Given the description of an element on the screen output the (x, y) to click on. 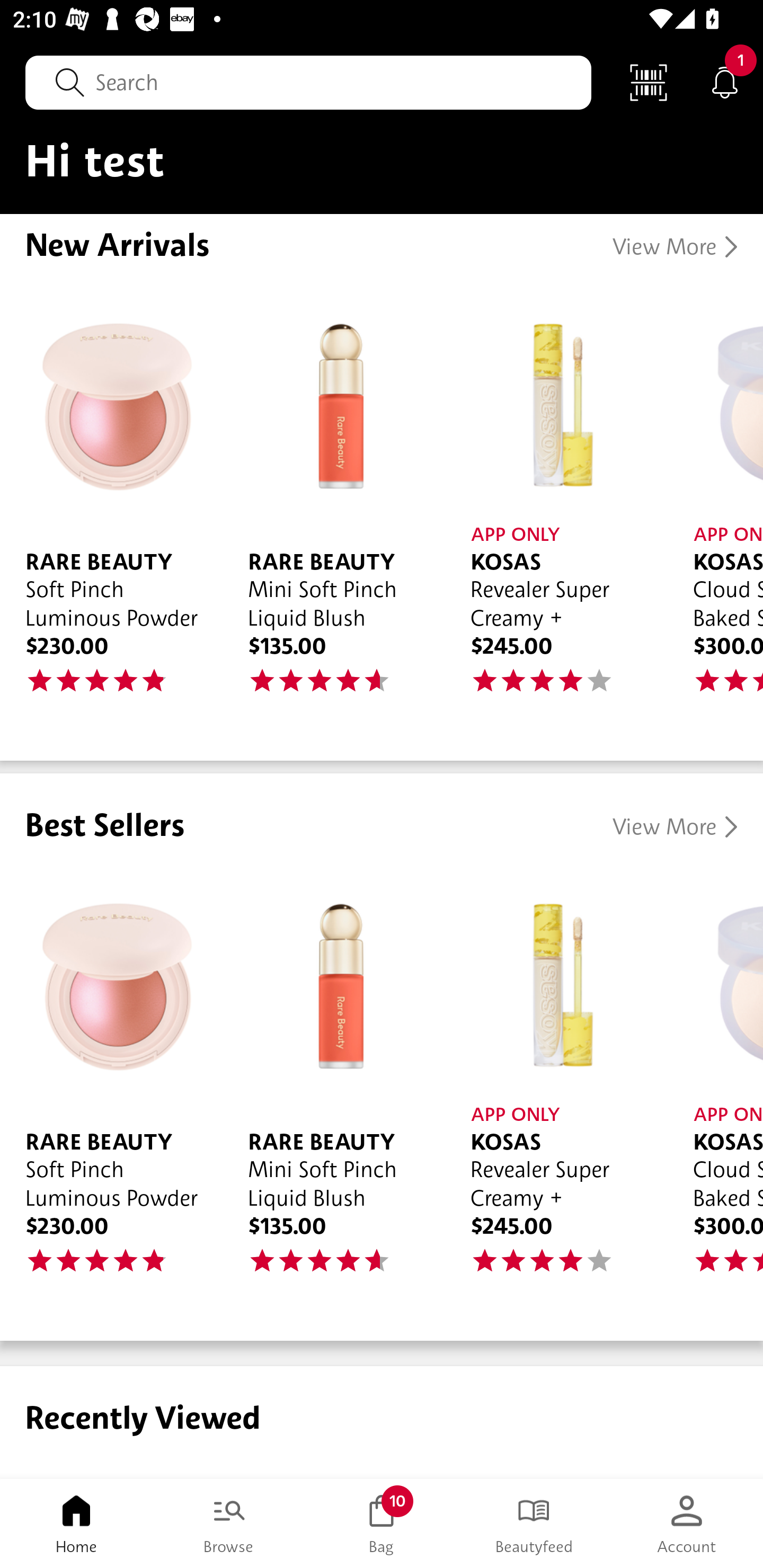
Scan Code (648, 81)
Notifications (724, 81)
Search (308, 81)
View More (674, 246)
View More (674, 826)
Recently Viewed (381, 1421)
Browse (228, 1523)
Bag 10 Bag (381, 1523)
Beautyfeed (533, 1523)
Account (686, 1523)
